Given the description of an element on the screen output the (x, y) to click on. 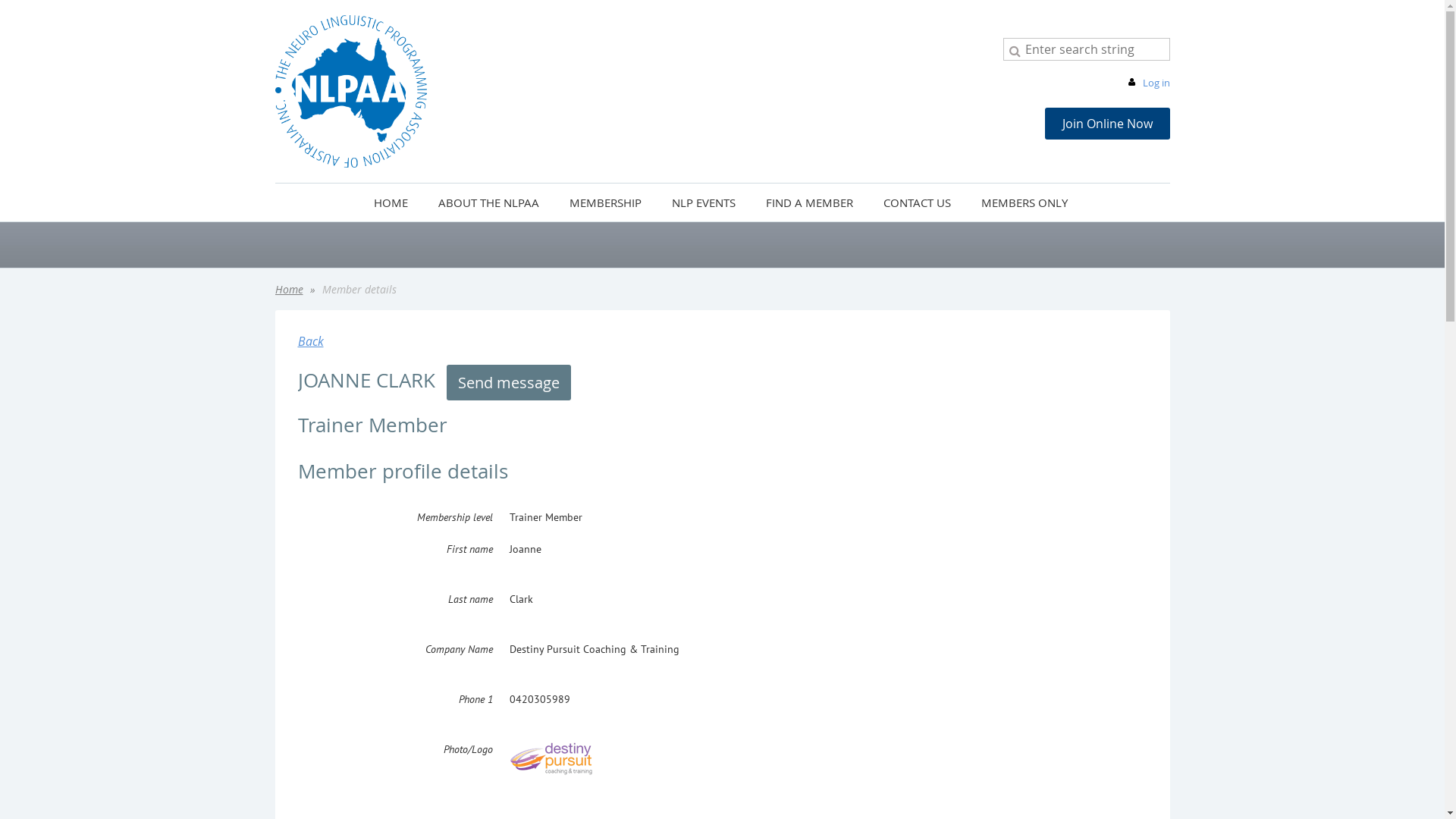
Home Element type: text (288, 289)
HOME Element type: text (390, 202)
NLP EVENTS Element type: text (703, 202)
Back Element type: text (310, 340)
Send message Element type: text (507, 382)
FIND A MEMBER Element type: text (809, 202)
ABOUT THE NLPAA Element type: text (488, 202)
Log in Element type: text (1147, 82)
CONTACT US Element type: text (917, 202)
MEMBERSHIP Element type: text (605, 202)
MEMBERS ONLY Element type: text (1025, 202)
Join Online Now Element type: text (1107, 123)
